Given the description of an element on the screen output the (x, y) to click on. 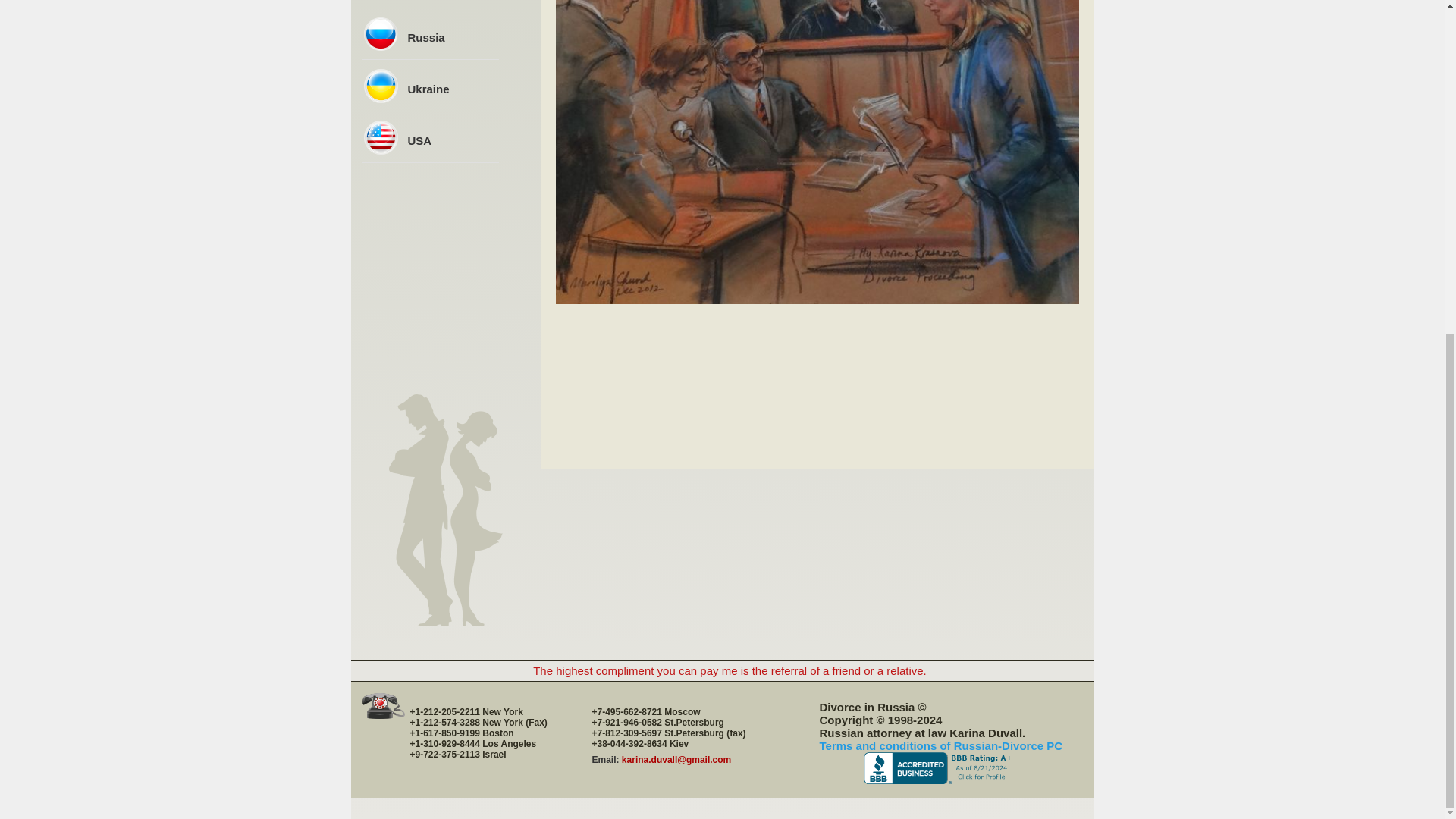
Russia (426, 37)
USA (419, 140)
Ukraine (428, 88)
Terms and conditions of Russian-Divorce PC (940, 745)
